Given the description of an element on the screen output the (x, y) to click on. 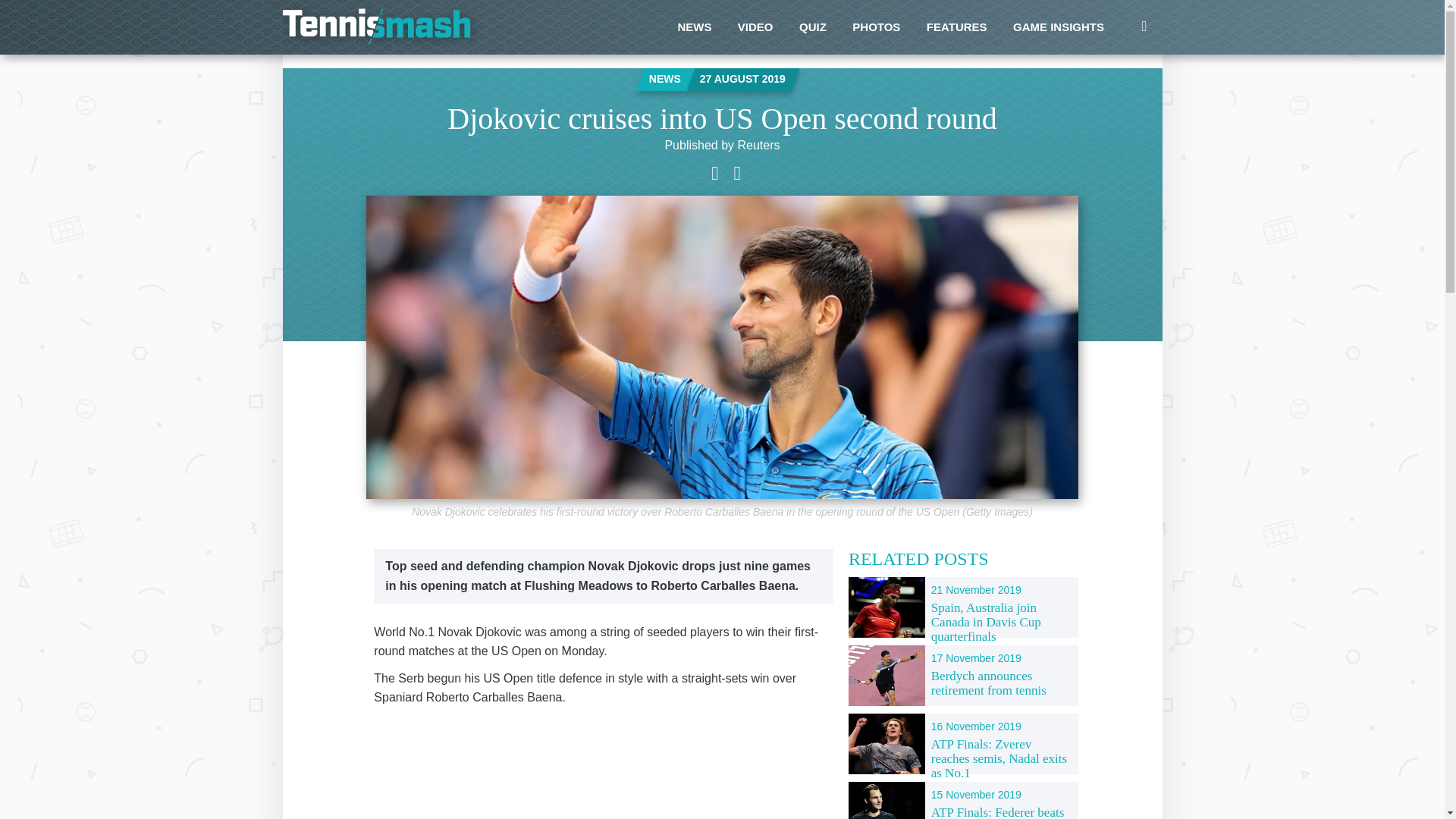
FEATURES (956, 26)
PHOTOS (876, 26)
View all posts in News (665, 78)
GAME INSIGHTS (1058, 26)
VIDEO (755, 26)
QUIZ (812, 26)
NEWS (693, 26)
NEWS (665, 78)
